Given the description of an element on the screen output the (x, y) to click on. 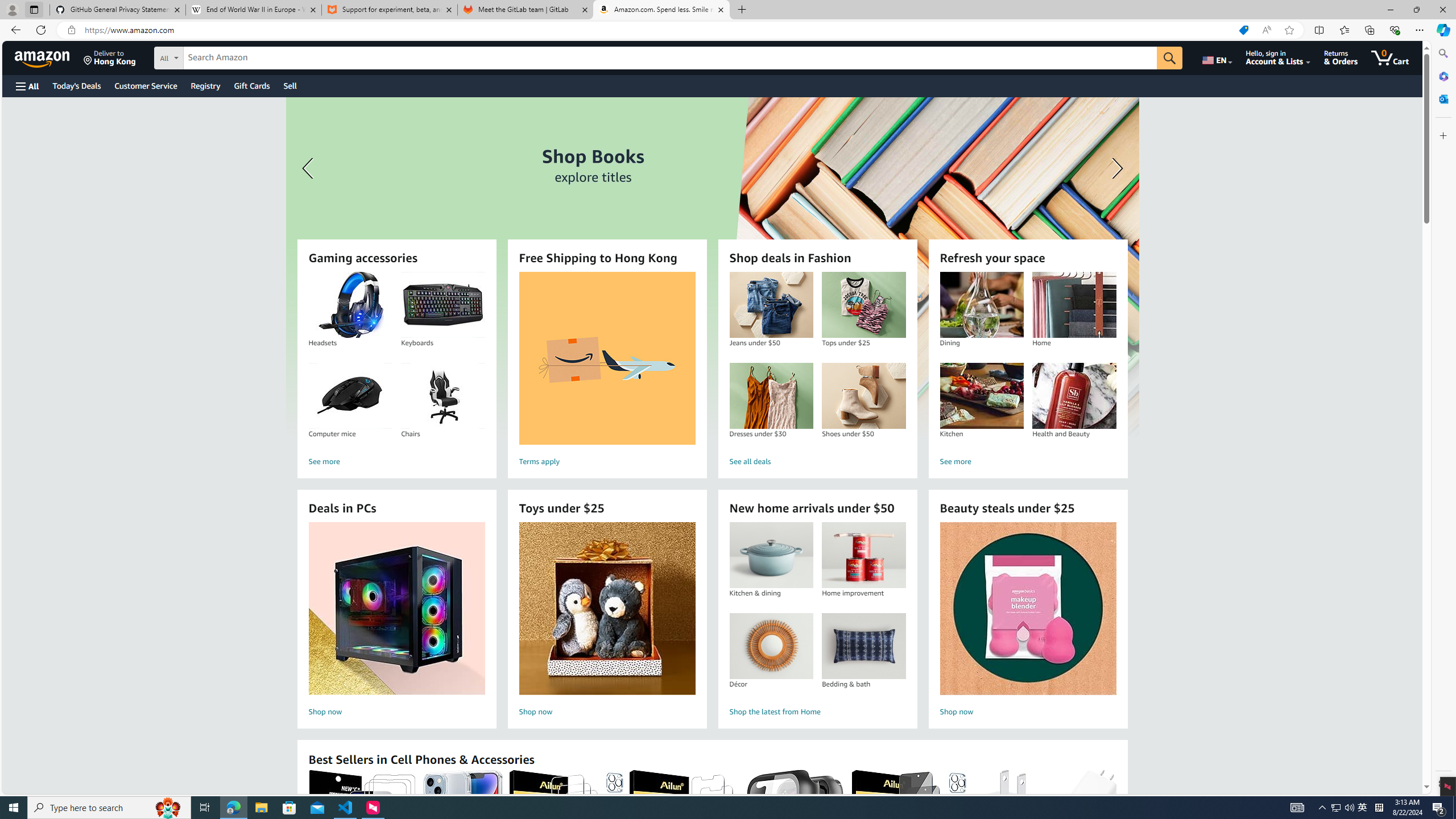
Amazon (43, 57)
Skip to main content (48, 56)
Keyboards (442, 304)
Toys under $25 (606, 608)
Previous slide (309, 168)
